Given the description of an element on the screen output the (x, y) to click on. 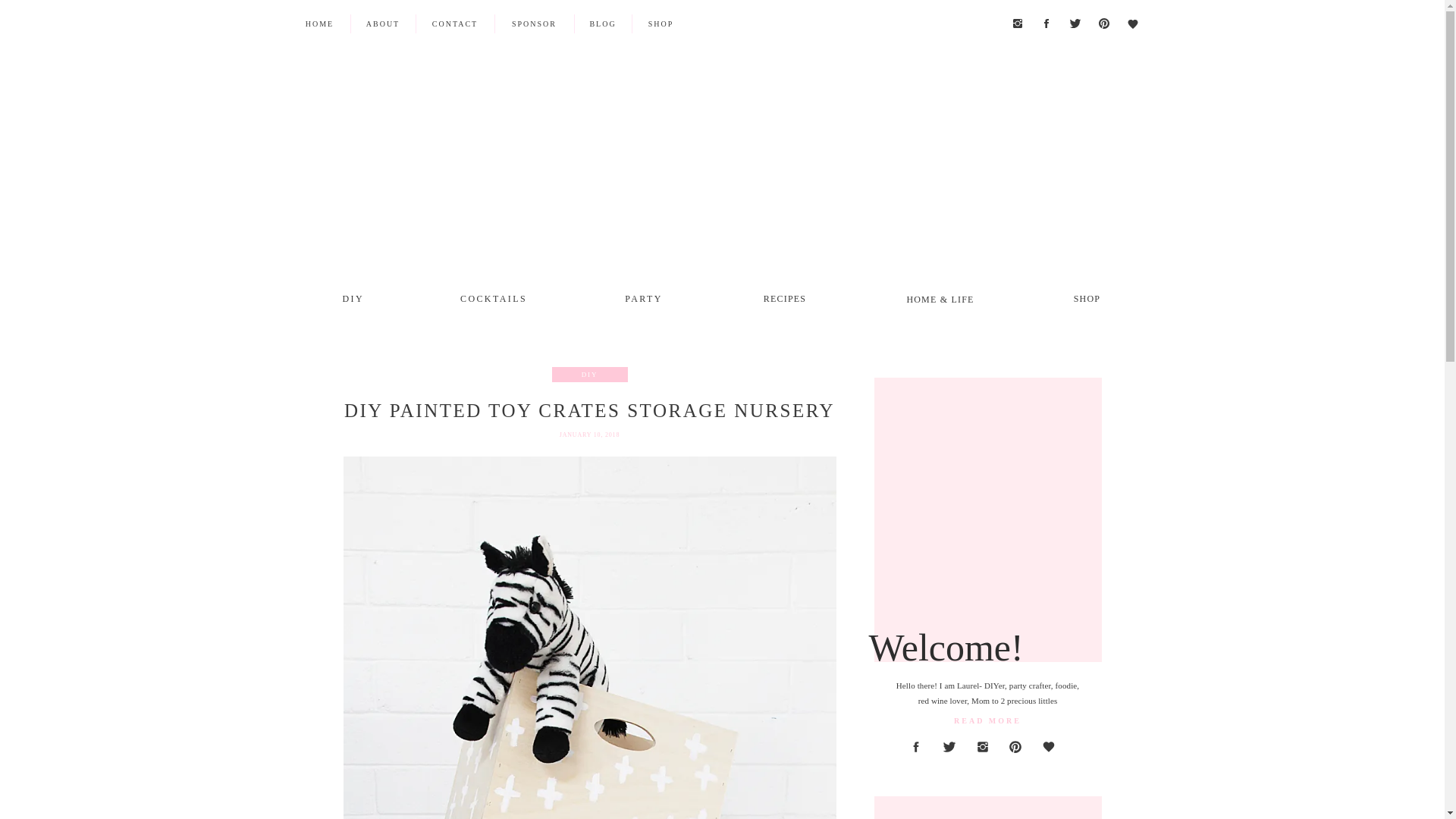
COCKTAILS (493, 298)
ABOUT (382, 23)
RECIPES (785, 298)
SHOP (1086, 298)
SHOP (661, 23)
SPONSOR (533, 23)
BLOG (602, 23)
DIY (588, 374)
HOME (319, 23)
DIY (353, 297)
READ MORE (986, 720)
PARTY (643, 298)
CONTACT (454, 23)
